Given the description of an element on the screen output the (x, y) to click on. 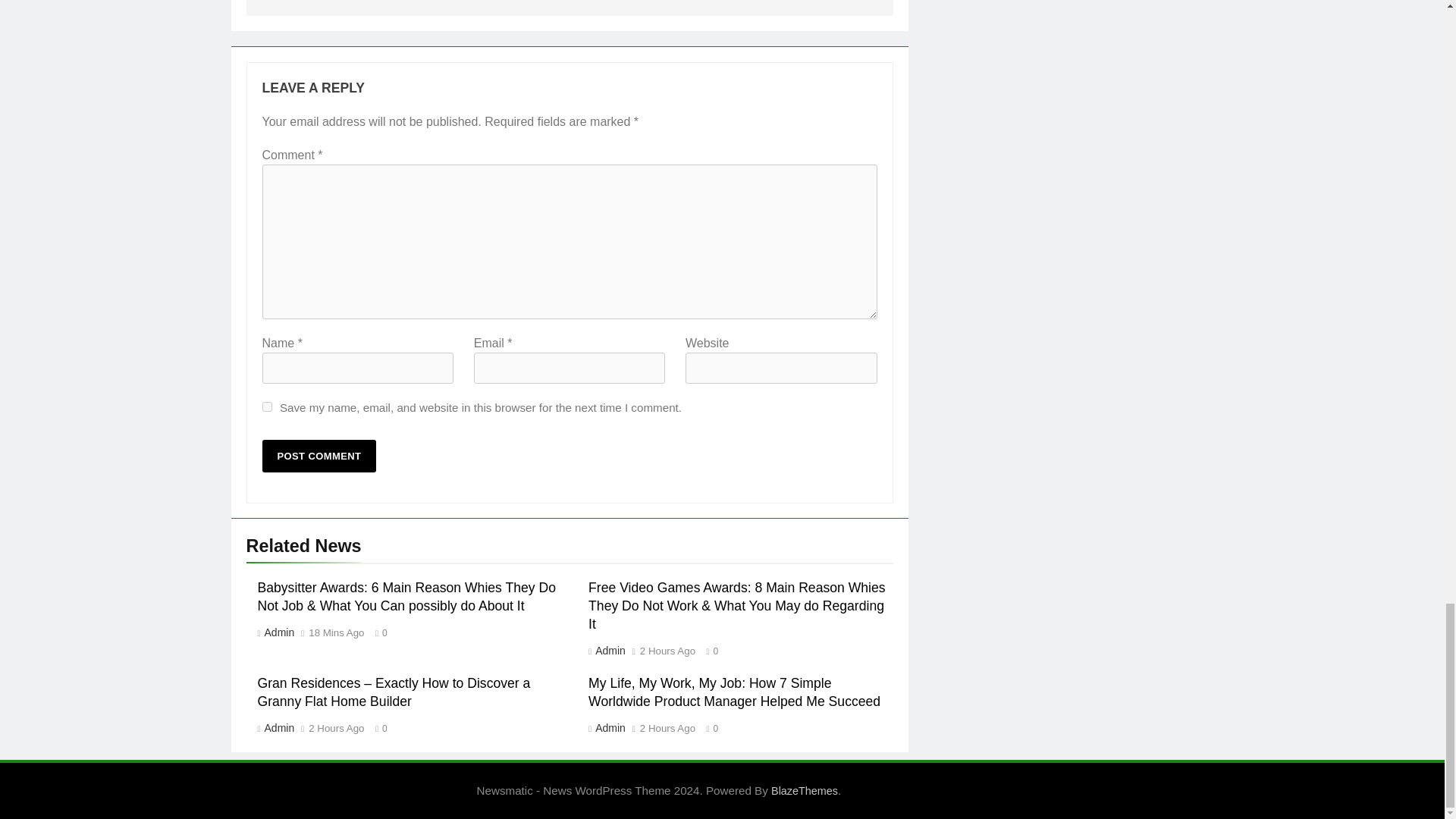
Post Comment (319, 455)
yes (267, 406)
